Given the description of an element on the screen output the (x, y) to click on. 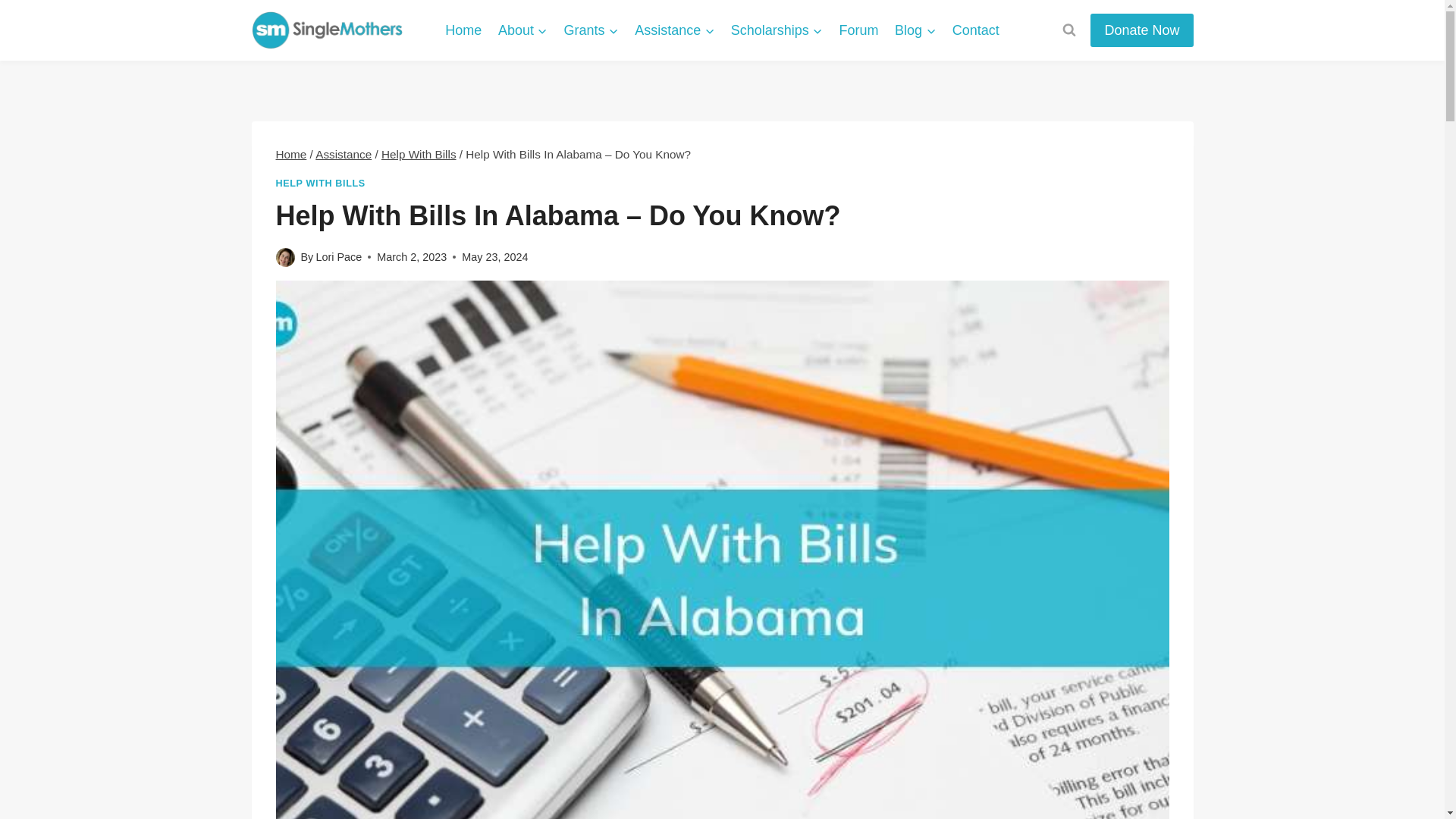
About (522, 30)
Scholarships (776, 30)
Grants (591, 30)
Assistance (674, 30)
Home (462, 30)
